Given the description of an element on the screen output the (x, y) to click on. 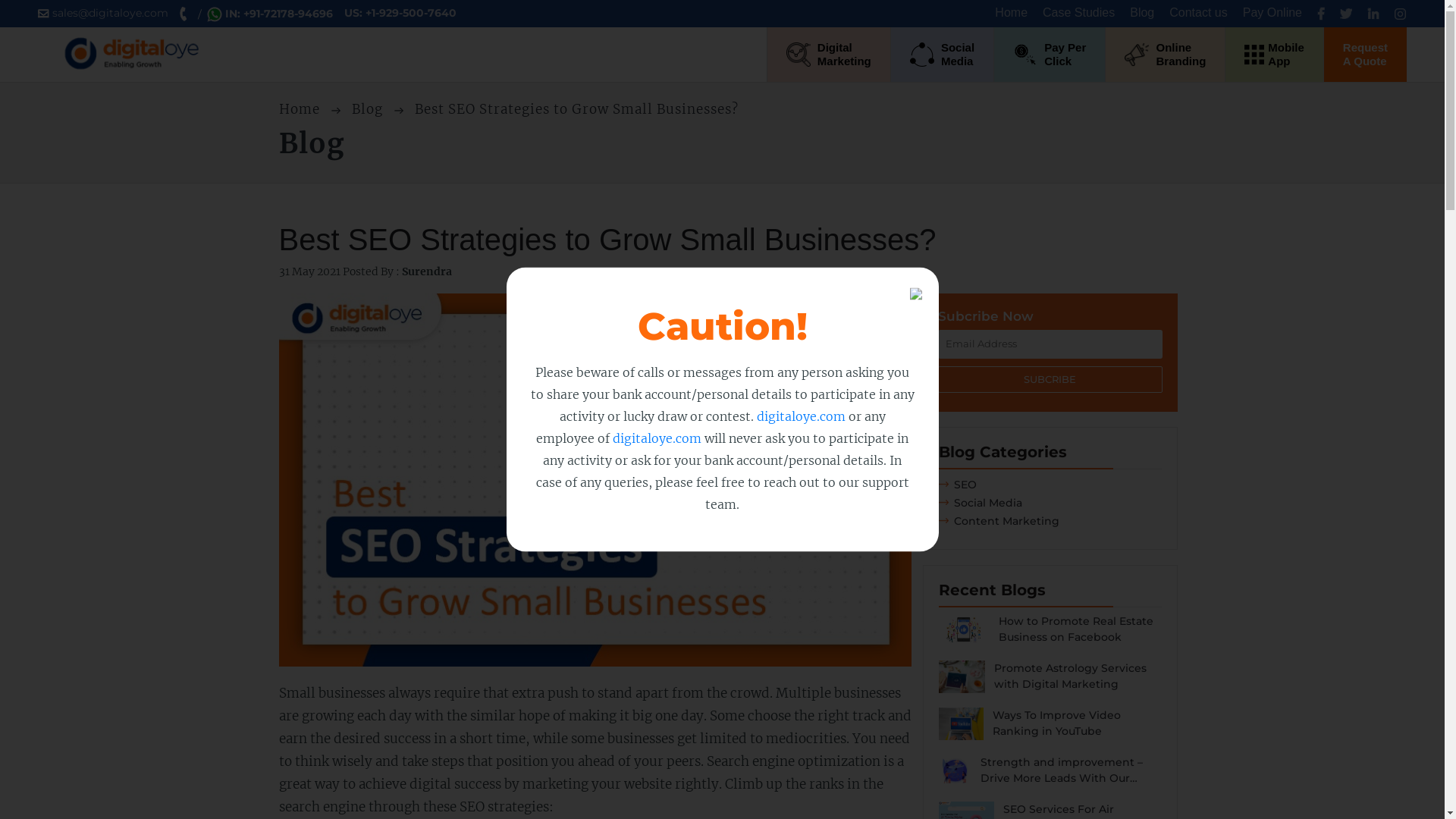
How to Promote Real Estate Business on Facebook Element type: text (1049, 636)
Best SEO Strategies to Grow Small Businesses? Element type: hover (595, 487)
Promote Astrology Services with Digital Marketing Element type: text (1049, 683)
digitaloye.com Element type: text (656, 437)
Social Media Element type: text (980, 502)
Ways To Improve Video Ranking in YouTube Element type: text (1049, 730)
Blog Element type: text (1141, 12)
IN: +91-72178-94696 Element type: text (270, 14)
Blog Element type: text (368, 108)
Case Studies Element type: text (1078, 12)
Mobile
App Element type: text (1274, 54)
Home Element type: text (1010, 12)
digitaloye.com Element type: text (800, 415)
US: +1-929-500-7640 Element type: text (405, 13)
Subcribe Element type: text (1049, 379)
Digital
Marketing Element type: text (828, 54)
Content Marketing Element type: text (998, 520)
SEO Element type: text (957, 484)
Social
Media Element type: text (942, 54)
Pay Online Element type: text (1272, 12)
Online
Branding Element type: text (1164, 54)
Pay Per
Click Element type: text (1049, 54)
Contact us Element type: text (1197, 12)
Request
A Quote Element type: text (1365, 54)
Home Element type: text (301, 108)
sales@digitaloye.com Element type: text (108, 13)
